Given the description of an element on the screen output the (x, y) to click on. 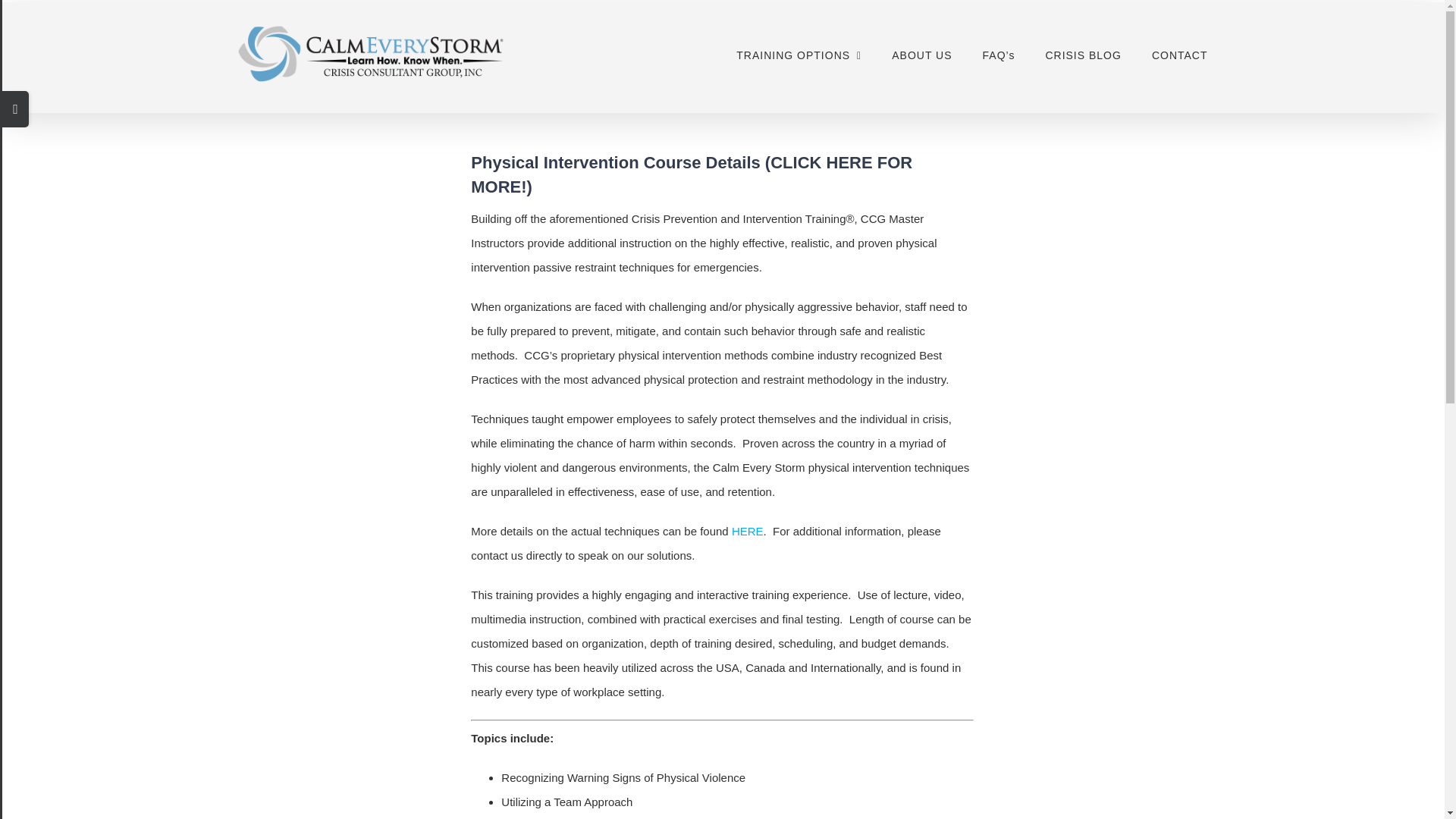
HERE (747, 530)
TRAINING OPTIONS (798, 53)
